Given the description of an element on the screen output the (x, y) to click on. 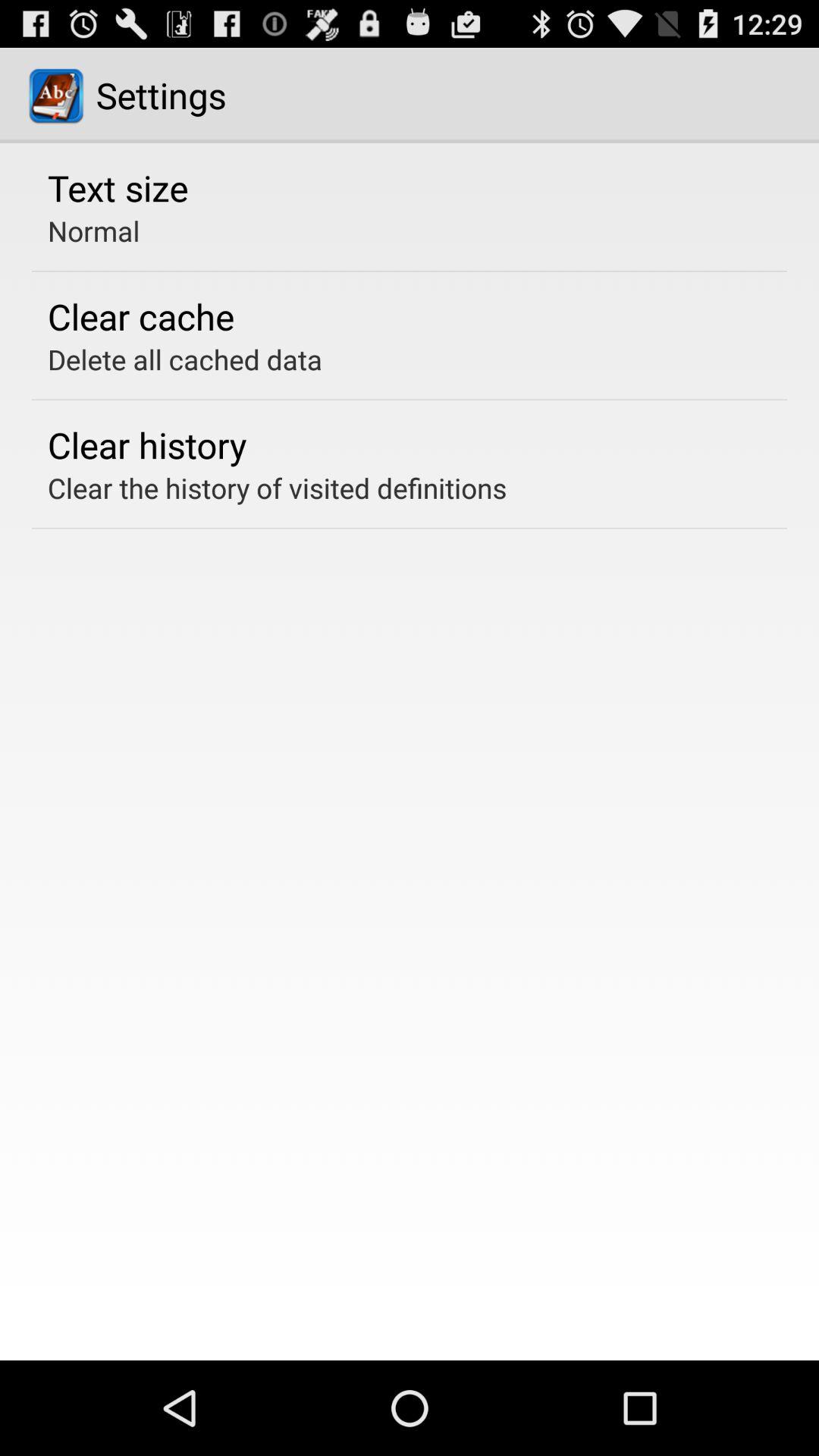
scroll to delete all cached app (184, 359)
